Given the description of an element on the screen output the (x, y) to click on. 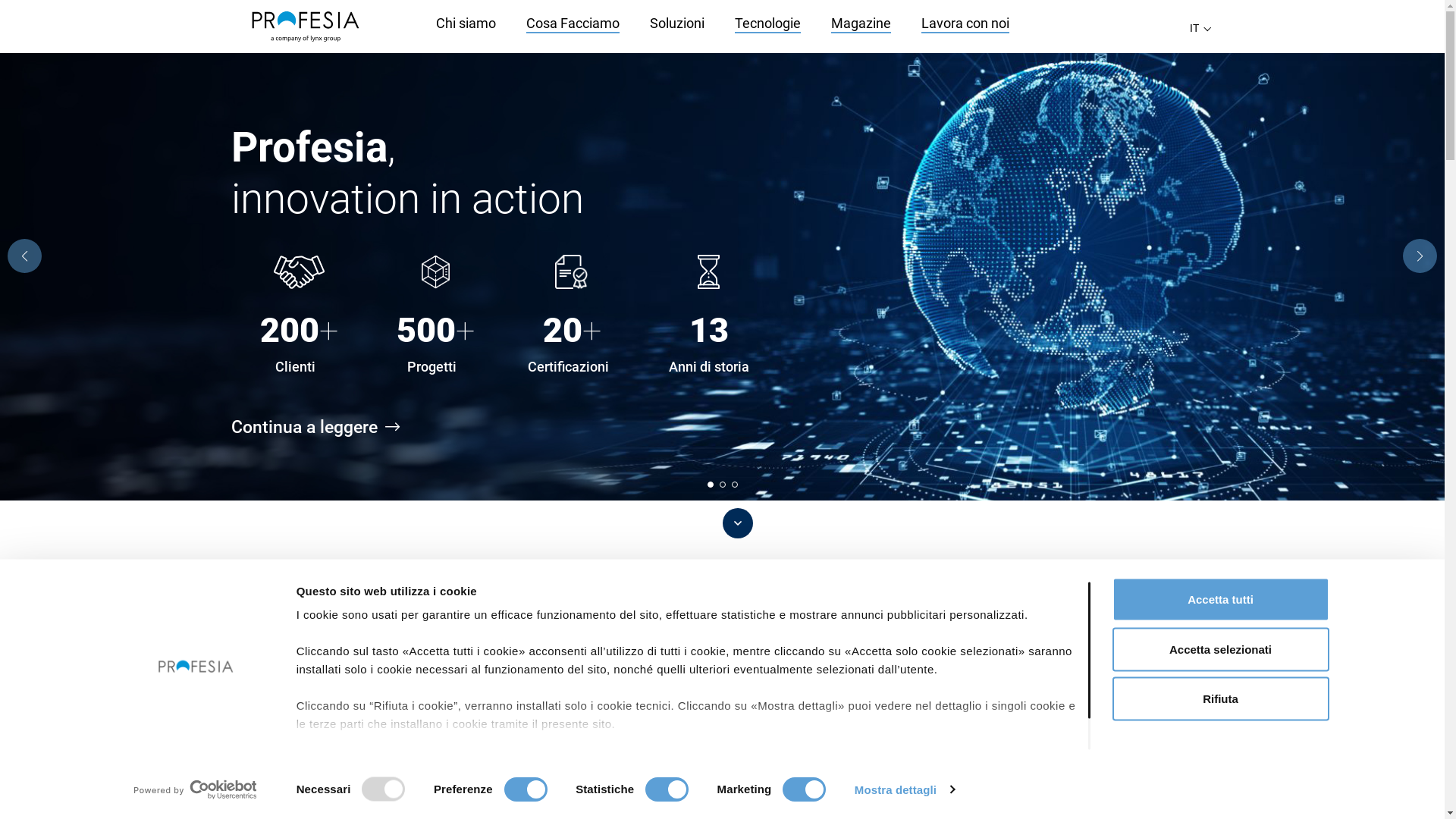
Magazine Element type: text (861, 24)
Profesia Element type: hover (304, 26)
Accetta tutti Element type: text (1219, 599)
Mostra dettagli Element type: text (904, 789)
Chi siamo Element type: text (465, 23)
Tecnologie Element type: text (767, 24)
Rifiuta Element type: text (1219, 698)
Accetta selezionati Element type: text (1219, 649)
qui Element type: text (341, 777)
Continua a leggere Element type: text (325, 426)
Lavora con noi Element type: text (964, 24)
Soluzioni Element type: text (676, 23)
Cosa Facciamo Element type: text (572, 24)
